Given the description of an element on the screen output the (x, y) to click on. 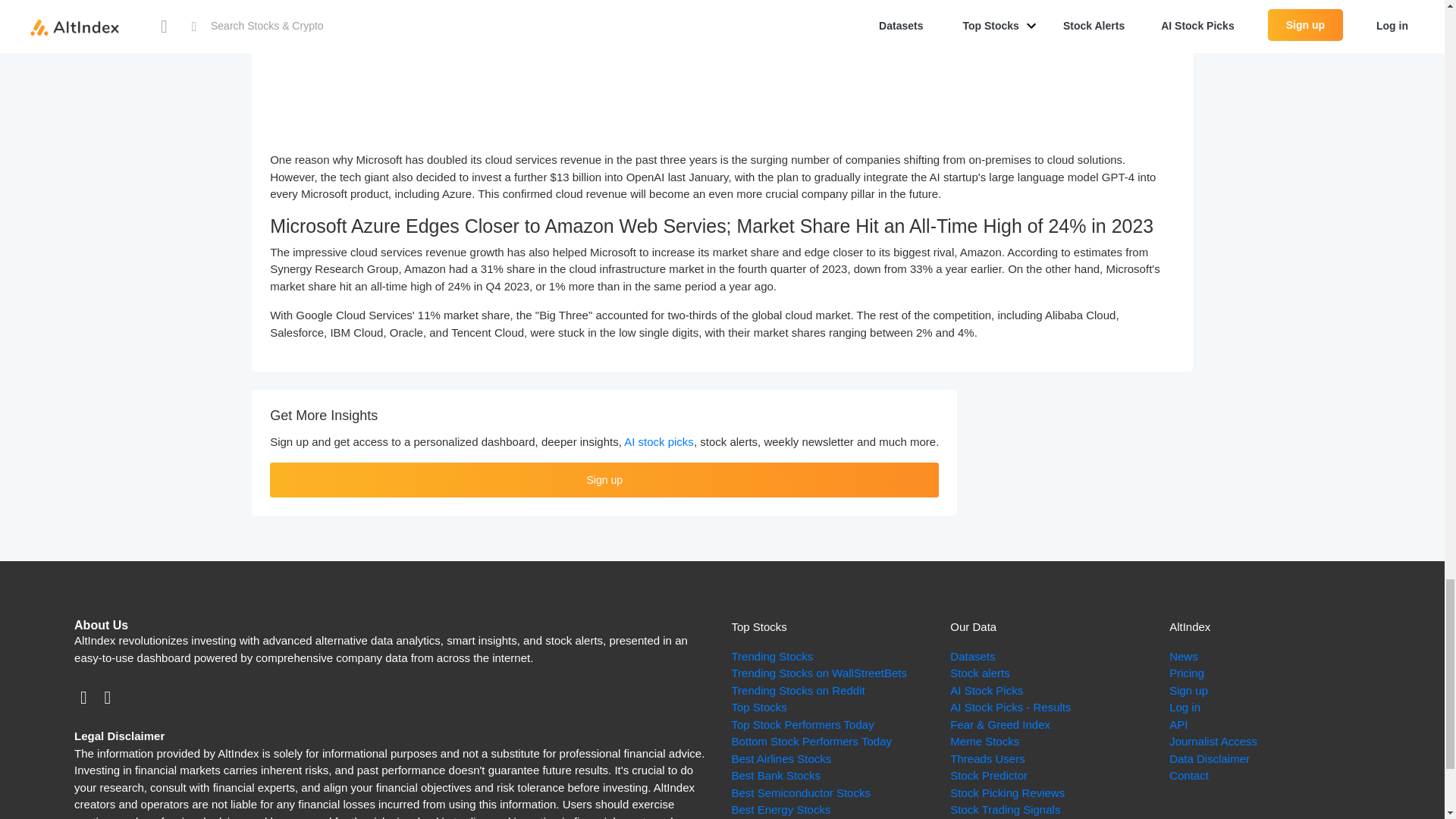
Trending Stocks on WallStreetBets (818, 672)
Trending Stocks (771, 656)
Top Stock Performers Today (801, 724)
AI stock picks (659, 440)
Sign up (604, 479)
Bottom Stock Performers Today (810, 740)
Best Airlines Stocks (780, 758)
Best Bank Stocks (775, 775)
Top Stocks (758, 707)
Best Semiconductor Stocks (799, 792)
Trending Stocks on Reddit (797, 689)
Microsoft cloud services (721, 67)
